Given the description of an element on the screen output the (x, y) to click on. 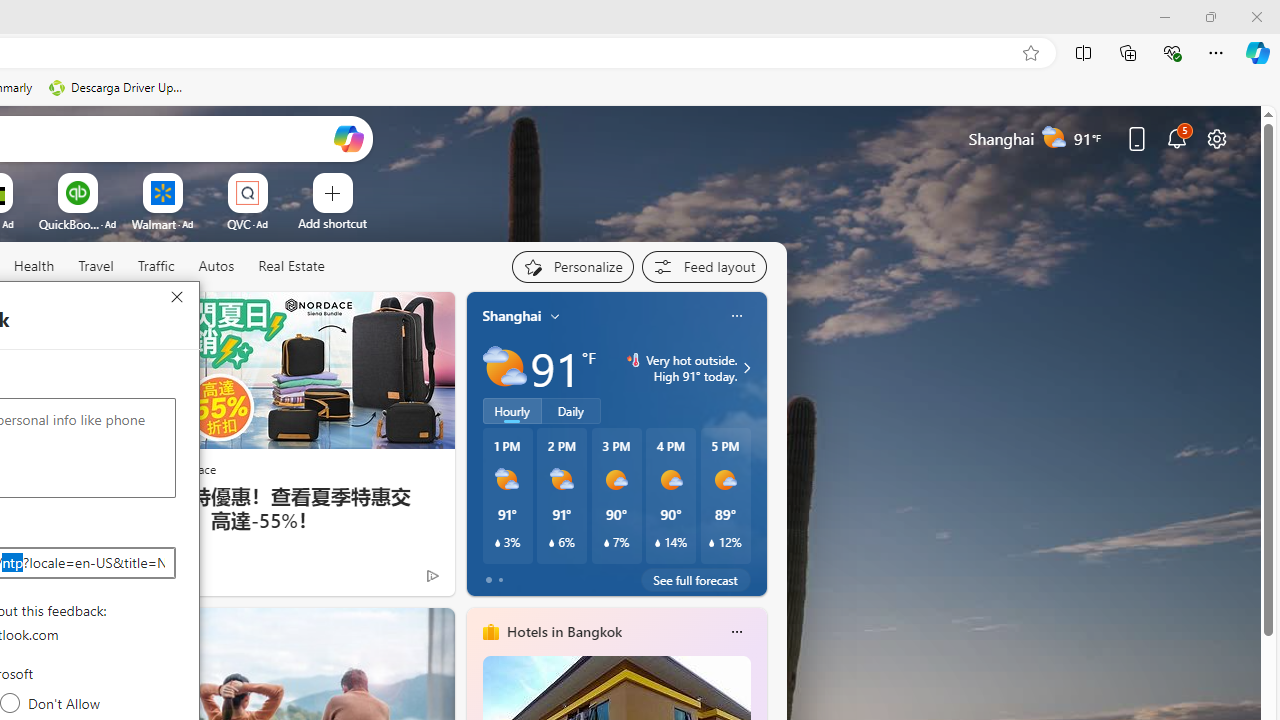
Daily (571, 411)
Shanghai (511, 315)
Hotels in Bangkok (563, 631)
Real Estate (291, 265)
Class: weather-arrow-glyph (746, 367)
hotels-header-icon (490, 632)
Personalize your feed" (571, 266)
Partly sunny (504, 368)
